Given the description of an element on the screen output the (x, y) to click on. 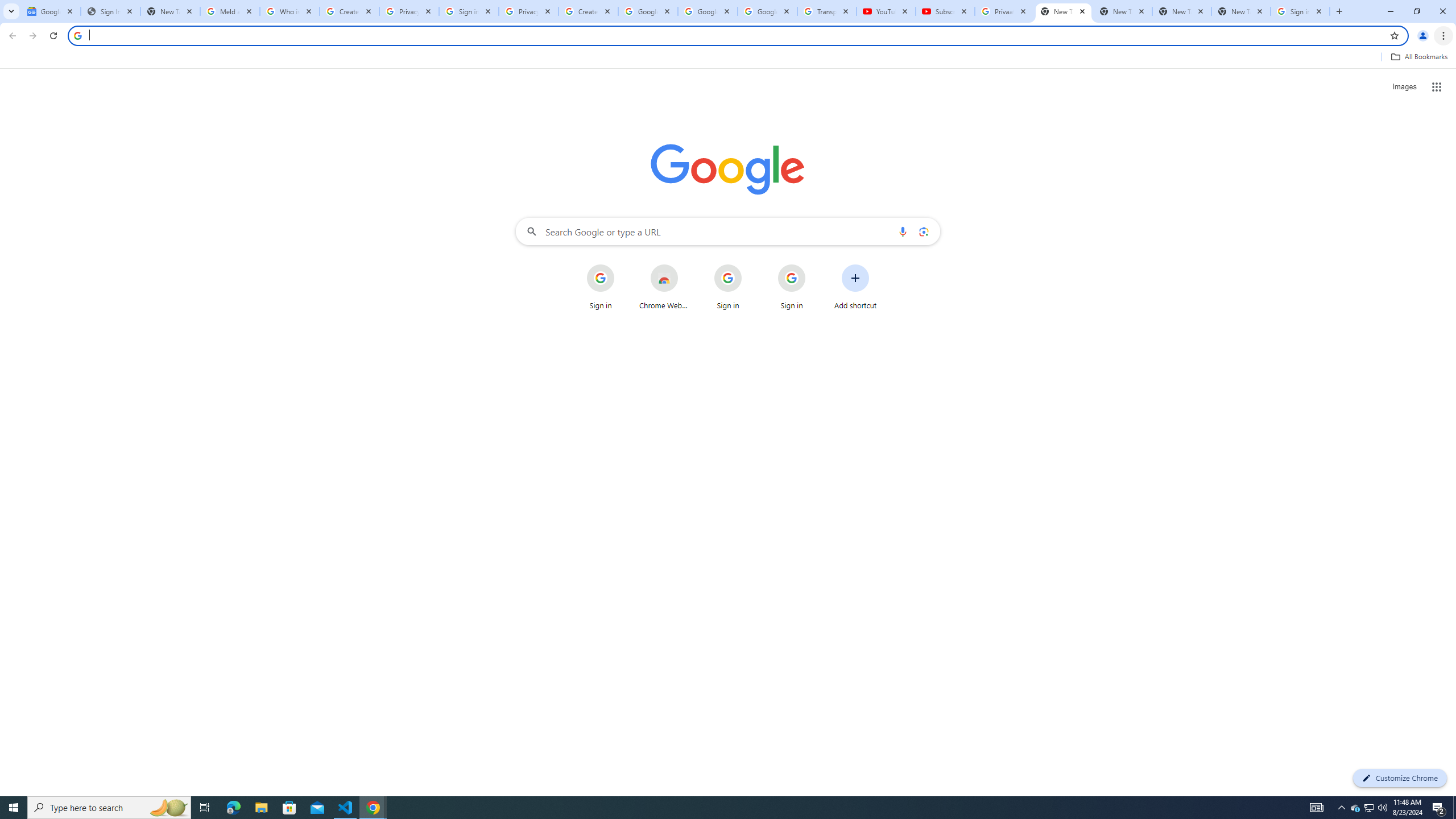
Sign in - Google Accounts (1300, 11)
Sign In - USA TODAY (110, 11)
Add shortcut (855, 287)
Google Account (767, 11)
YouTube (885, 11)
Sign in - Google Accounts (468, 11)
